Given the description of an element on the screen output the (x, y) to click on. 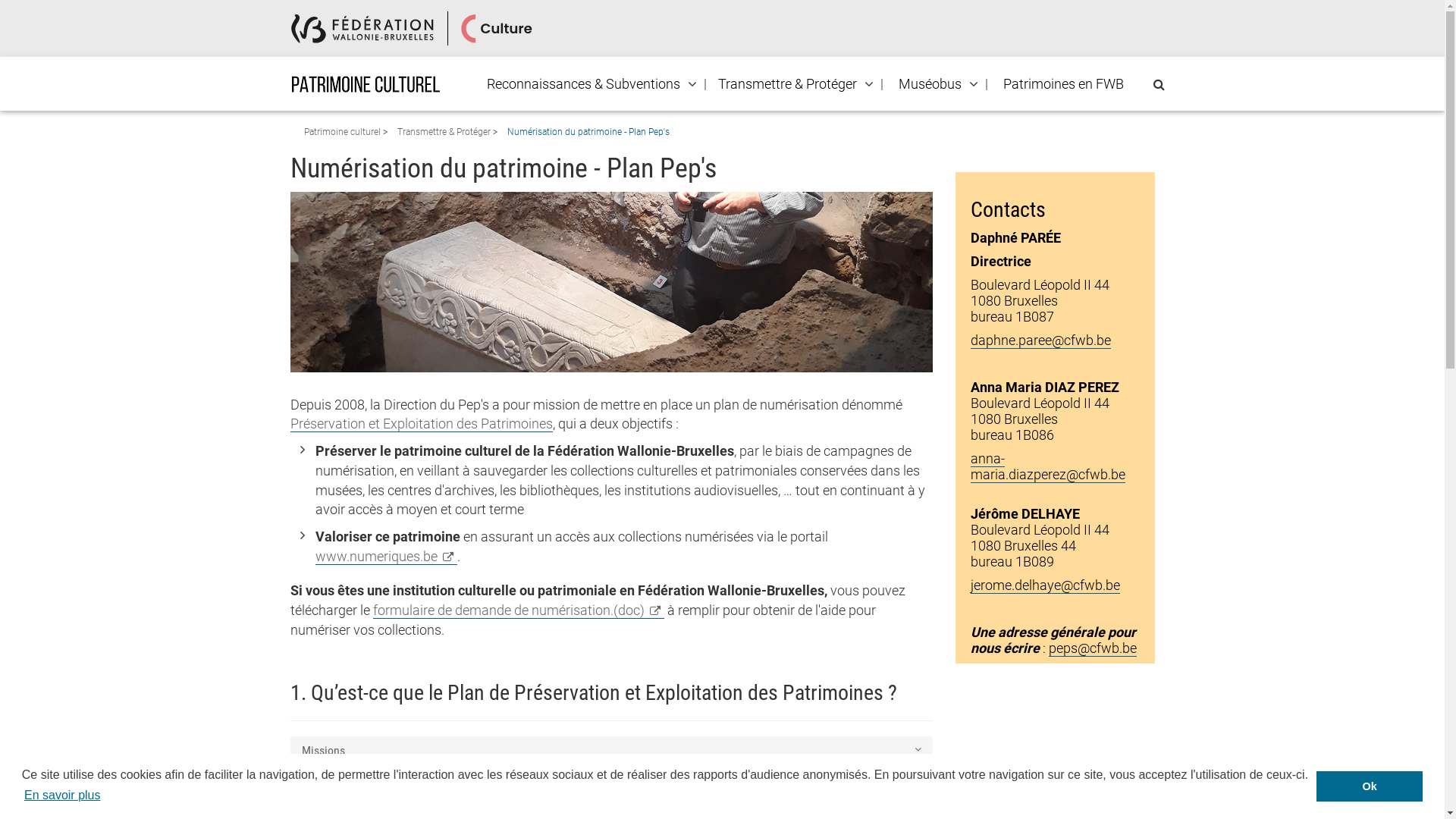
Patrimoine culturel Element type: text (342, 131)
Patrimoines en FWB Element type: text (1063, 84)
jerome.delhaye@cfwb.be Element type: text (1045, 585)
Recherche Element type: text (5, 11)
peps@cfwb.be Element type: text (1092, 648)
Missions Element type: text (610, 750)
En savoir plus Element type: text (62, 795)
anna-maria.diazperez@cfwb.be Element type: text (1047, 466)
Rechercher sur le site Element type: text (1158, 84)
Reconnaissances & Subventions Element type: text (582, 84)
Ok Element type: text (1369, 786)
daphne.paree@cfwb.be Element type: text (1040, 340)
La Direction du Peps en chiffres Element type: text (610, 782)
